Given the description of an element on the screen output the (x, y) to click on. 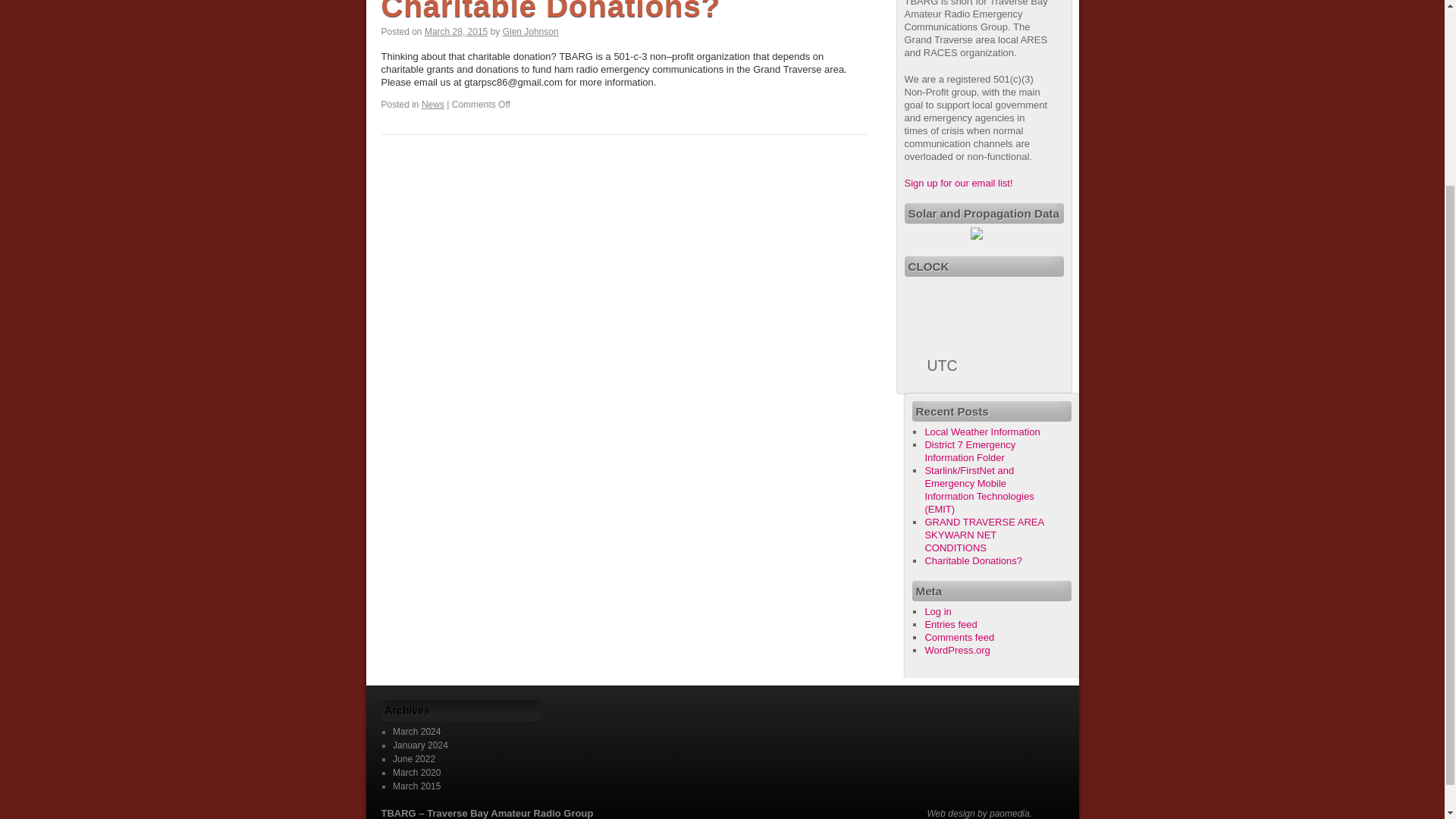
Charitable Donations? (973, 560)
Local Weather Information (981, 431)
GRAND TRAVERSE AREA SKYWARN NET CONDITIONS (983, 534)
Click to add Solar-Terrestrial Data to your website! (976, 235)
Glen Johnson (530, 31)
WordPress.org (957, 650)
Sign up for our email list! (957, 183)
March 2020 (417, 772)
12:43 (456, 31)
Log in (937, 611)
January 2024 (420, 745)
View all posts by Glen Johnson (530, 31)
June 2022 (414, 758)
March 2015 (417, 786)
News (433, 104)
